Given the description of an element on the screen output the (x, y) to click on. 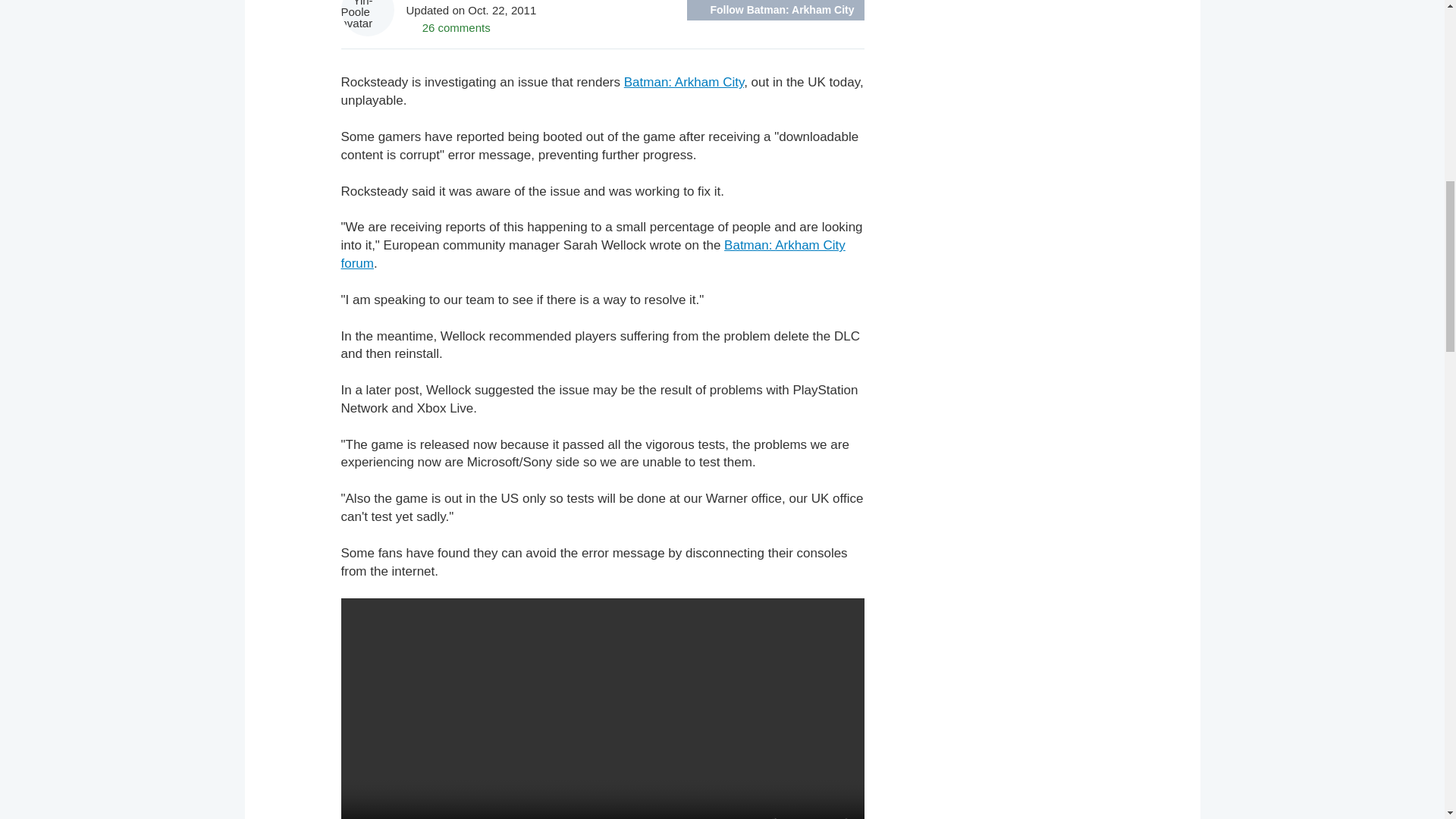
Follow Batman: Arkham City (775, 10)
26 comments (448, 27)
Batman: Arkham City (684, 82)
Batman: Arkham City forum (592, 254)
